Given the description of an element on the screen output the (x, y) to click on. 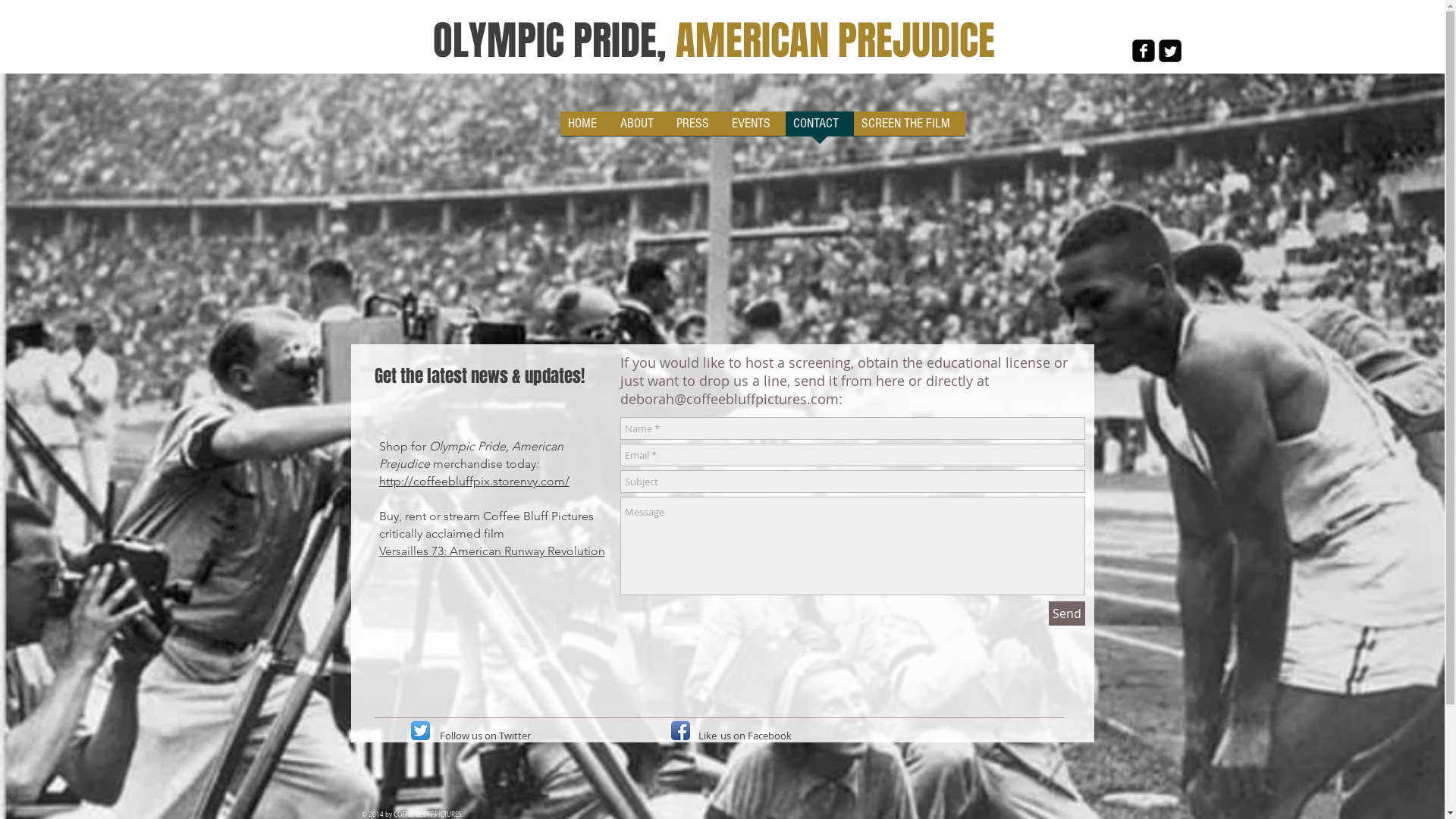
http://coffeebluffpix.storenvy.com/ Element type: text (474, 480)
ABOUT Element type: text (640, 128)
Versailles 73: American Runway Revolution Element type: text (492, 549)
CONTACT Element type: text (819, 128)
SCREEN THE FILM Element type: text (909, 128)
deborah@coffeebluffpictures.com Element type: text (729, 398)
EVENTS Element type: text (753, 128)
Send Element type: text (1066, 613)
HOME Element type: text (585, 128)
PRESS Element type: text (696, 128)
